Given the description of an element on the screen output the (x, y) to click on. 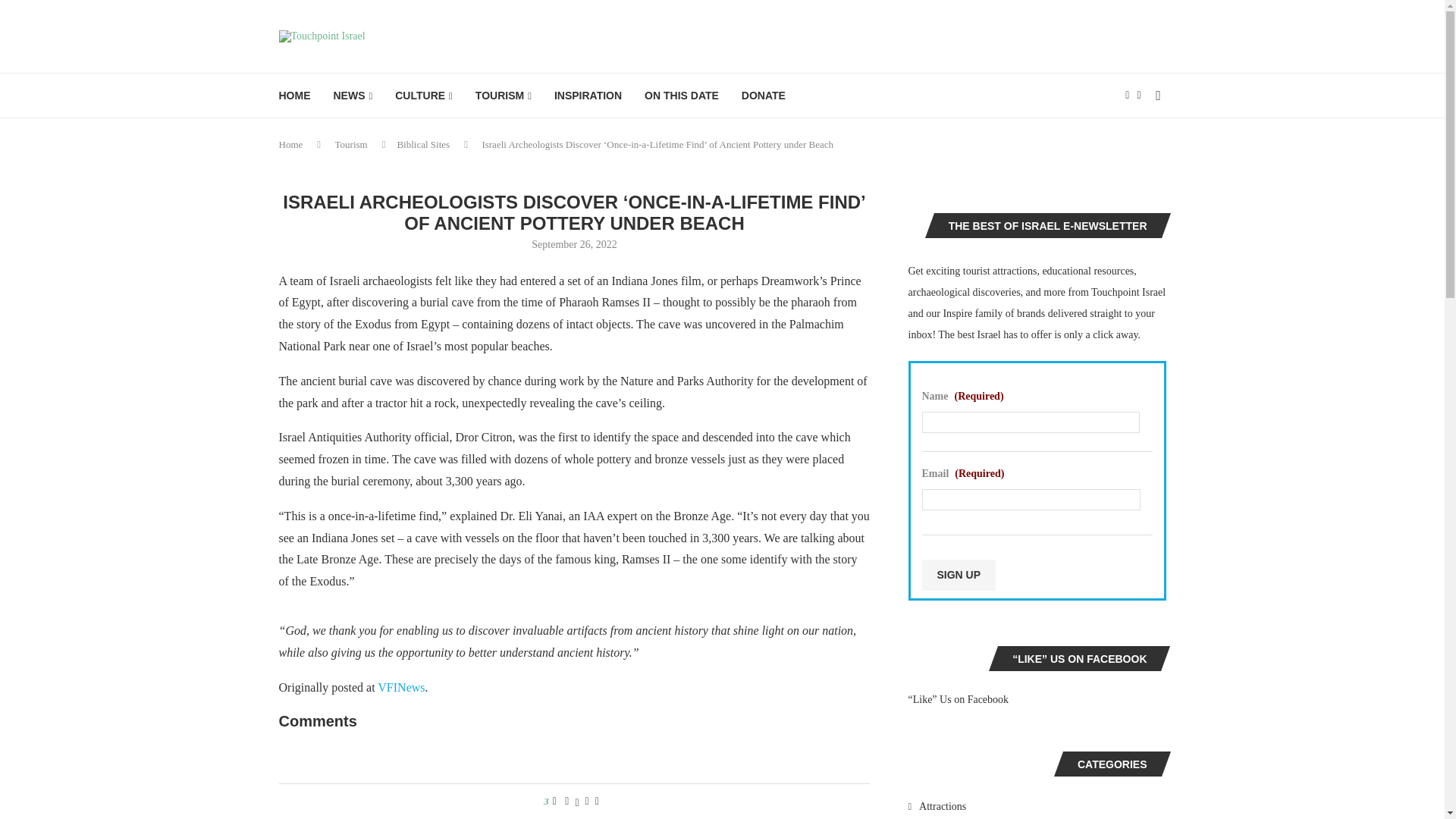
Tourism (351, 143)
SIGN UP (958, 574)
CULTURE (423, 95)
Home (290, 143)
DONATE (763, 95)
TOURISM (503, 95)
VFINews (401, 686)
INSPIRATION (587, 95)
Biblical Sites (422, 143)
ON THIS DATE (682, 95)
